Given the description of an element on the screen output the (x, y) to click on. 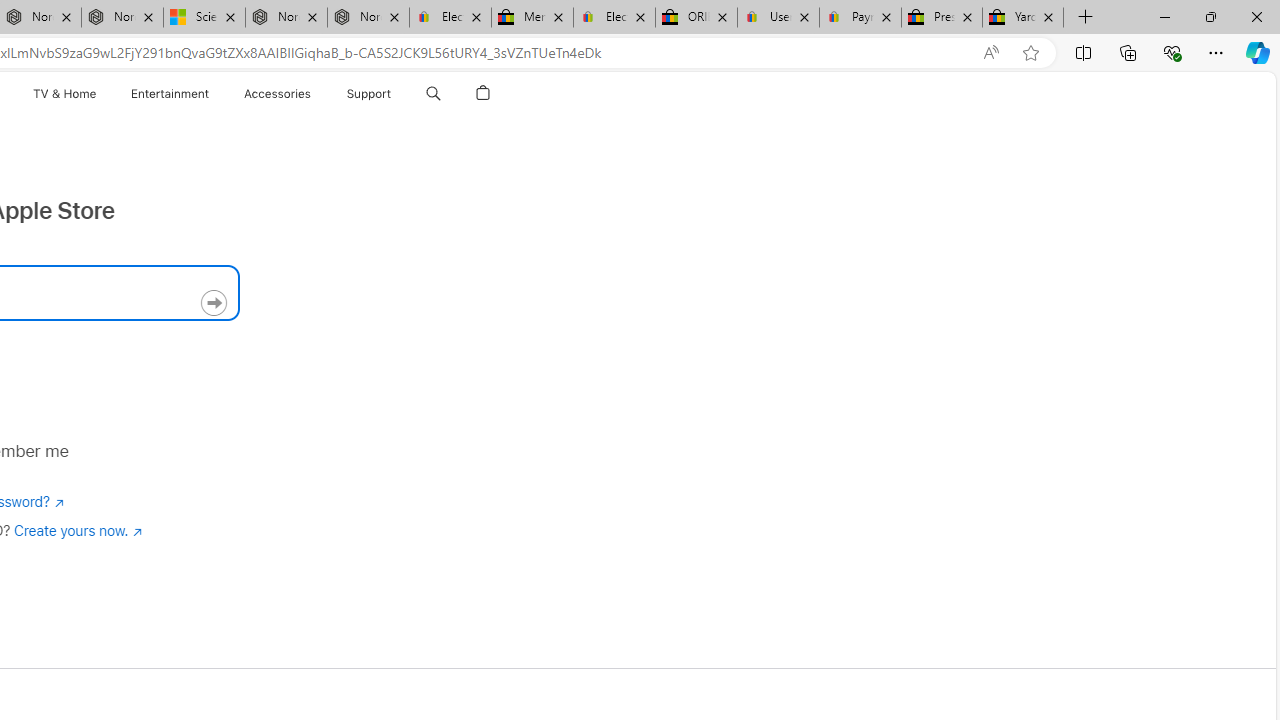
Search apple.com (433, 93)
Accessories (277, 93)
